Given the description of an element on the screen output the (x, y) to click on. 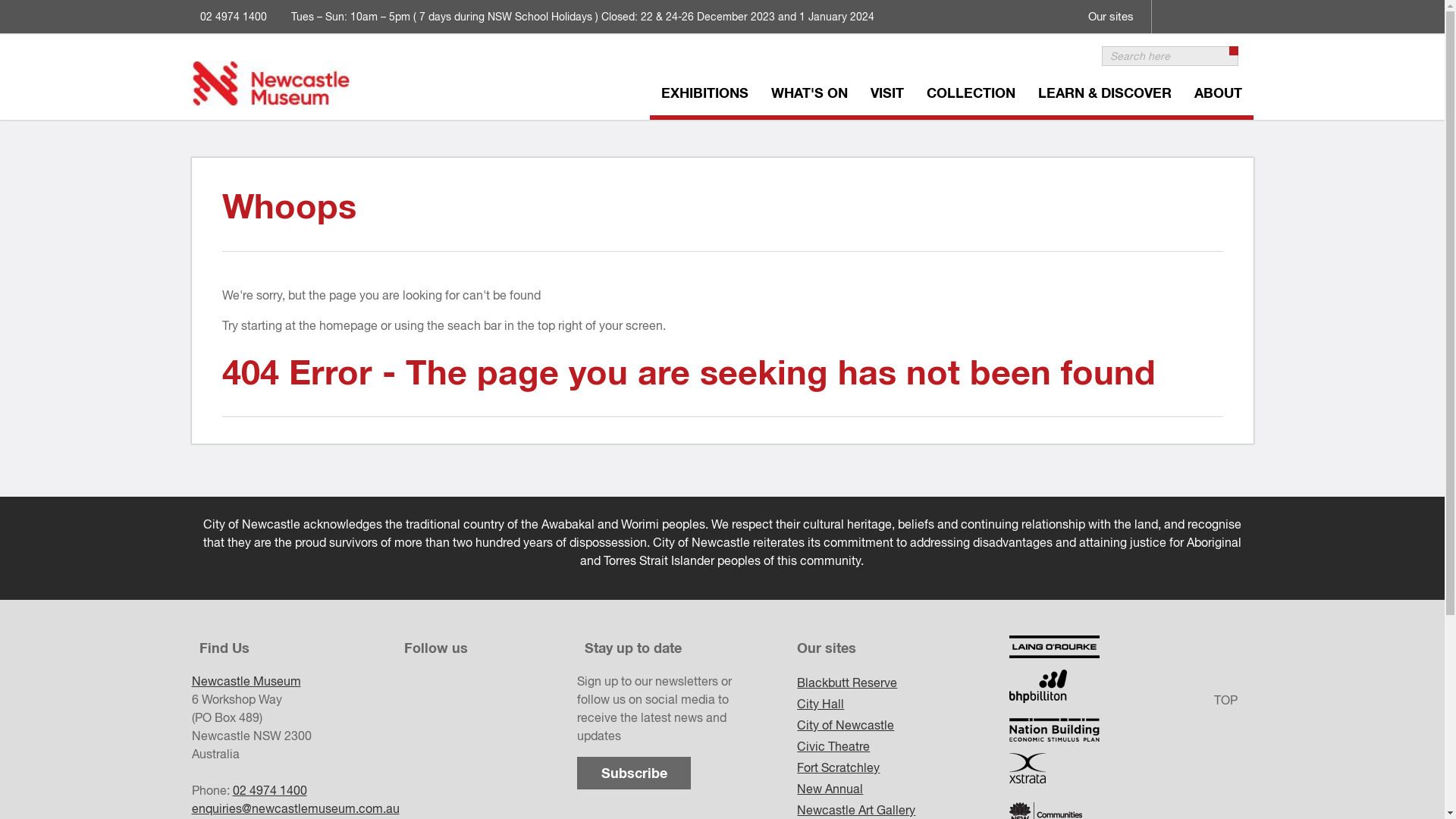
Subscribe Element type: text (633, 772)
Facebook Element type: text (1173, 6)
Fort Scratchley Element type: text (903, 767)
WHAT'S ON Element type: text (809, 94)
Contrast Element type: text (1236, 6)
Blackbutt Reserve Element type: text (903, 682)
ABOUT Element type: text (1218, 94)
City Hall Element type: text (903, 703)
EXHIBITIONS Element type: text (704, 94)
enquiries@newcastlemuseum.com.au Element type: text (294, 808)
New Annual Element type: text (903, 788)
02 4974 1400 Element type: text (233, 16)
02 4974 1400 Element type: text (269, 790)
Civic Theatre Element type: text (903, 745)
VISIT Element type: text (886, 94)
LEARN & DISCOVER Element type: text (1104, 94)
COLLECTION Element type: text (970, 94)
Newcastle Museum Element type: text (245, 680)
Instagram Element type: text (1204, 6)
City of Newcastle Element type: text (903, 724)
